Given the description of an element on the screen output the (x, y) to click on. 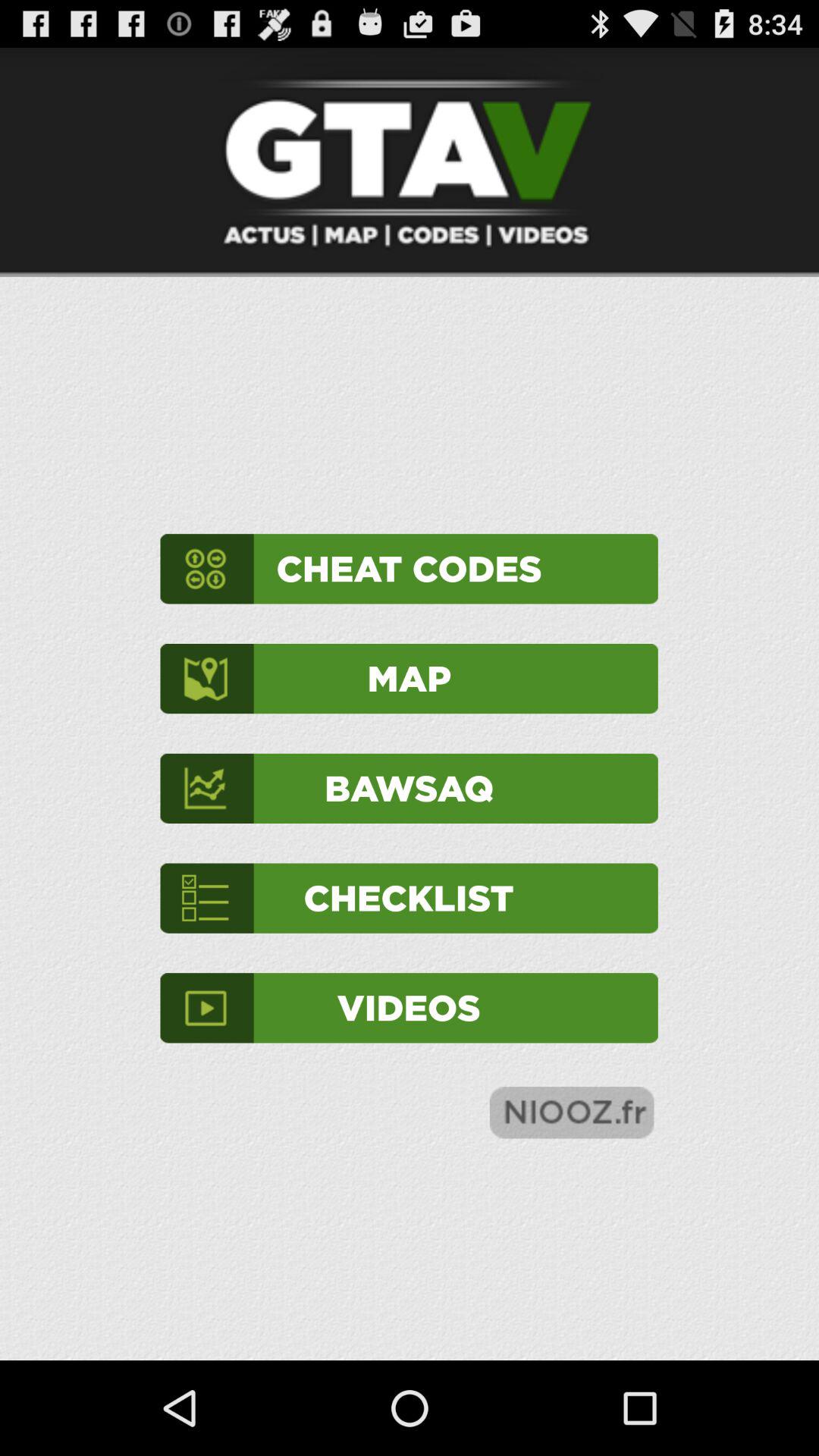
jump to videos icon (409, 1008)
